Given the description of an element on the screen output the (x, y) to click on. 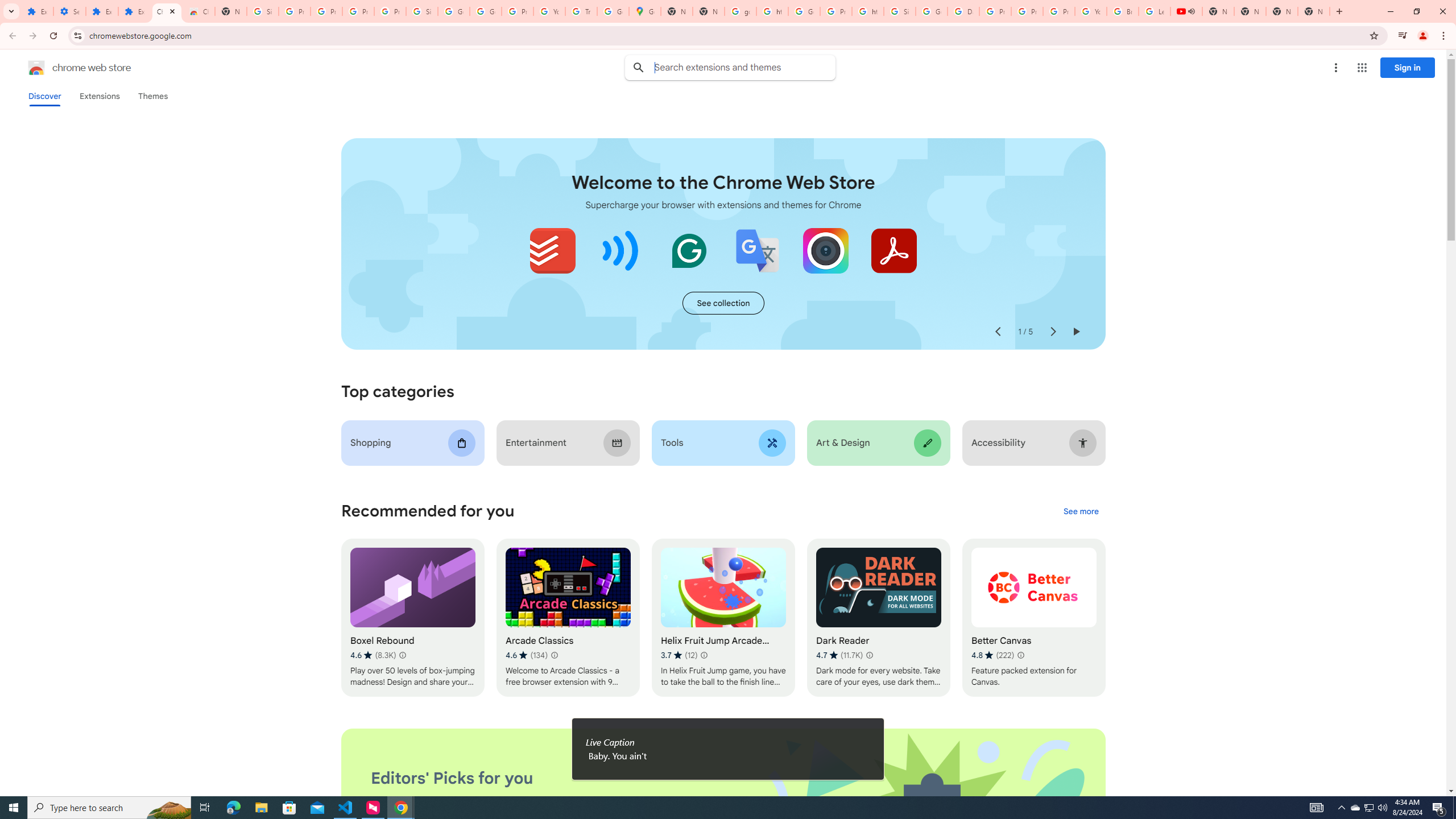
Chrome Web Store (166, 11)
Average rating 4.6 out of 5 stars. 8.3K ratings. (372, 655)
More options menu (1335, 67)
Learn more about results and reviews "Dark Reader" (869, 655)
Boxel Rebound (412, 617)
Tools (722, 443)
